Given the description of an element on the screen output the (x, y) to click on. 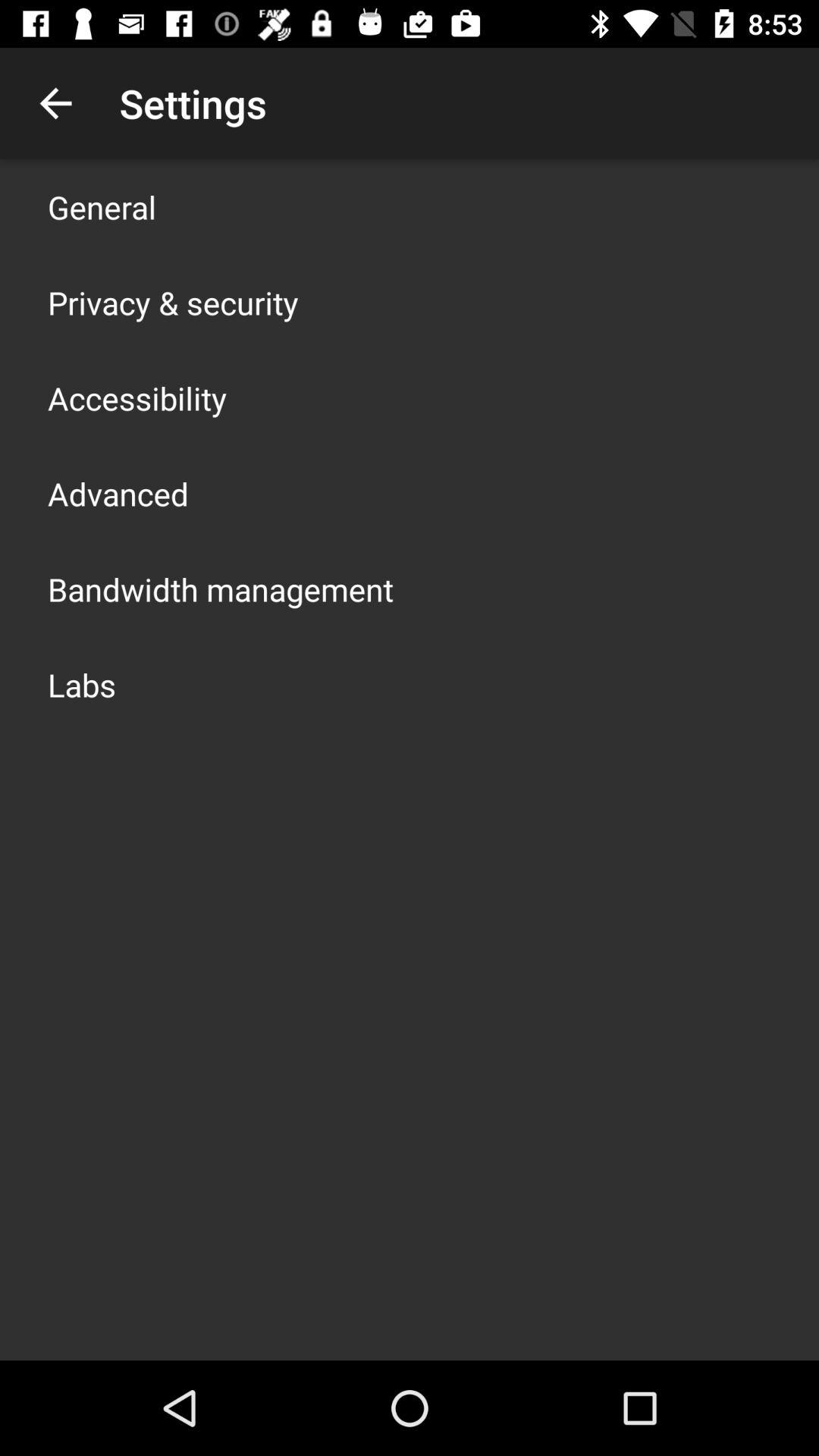
jump until the general (101, 206)
